Given the description of an element on the screen output the (x, y) to click on. 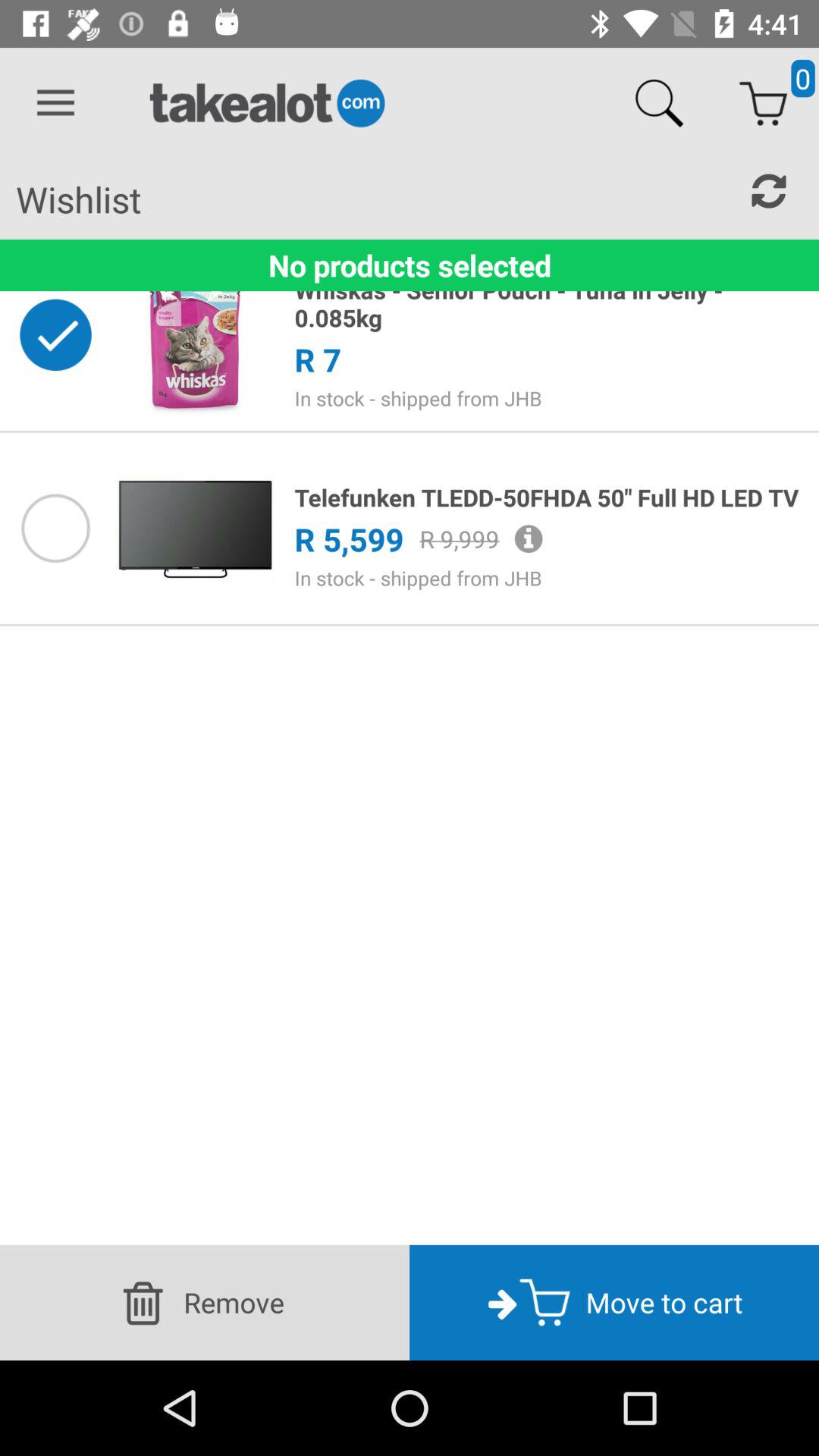
select app (55, 528)
